Given the description of an element on the screen output the (x, y) to click on. 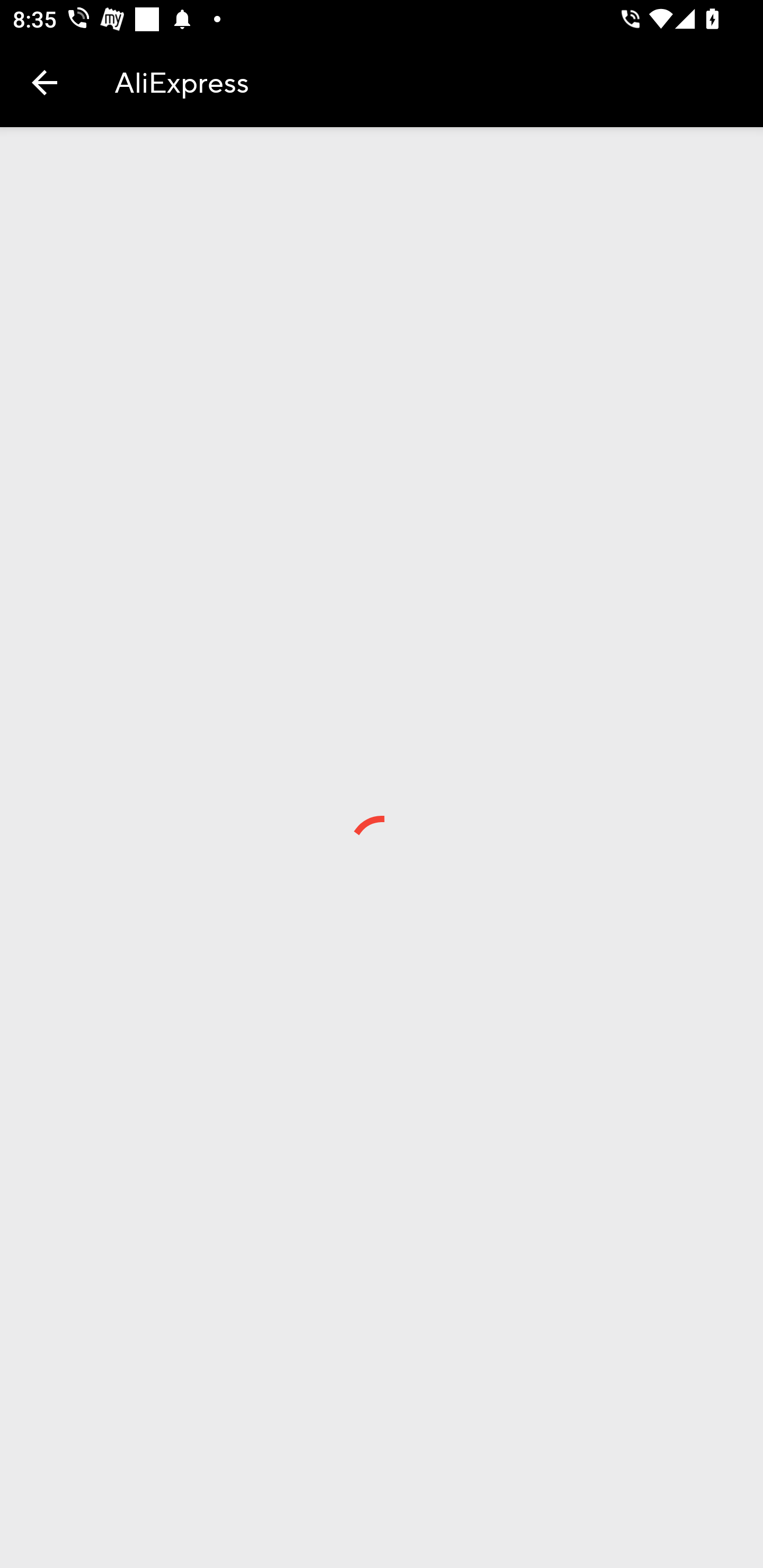
Navigate up (44, 82)
